Given the description of an element on the screen output the (x, y) to click on. 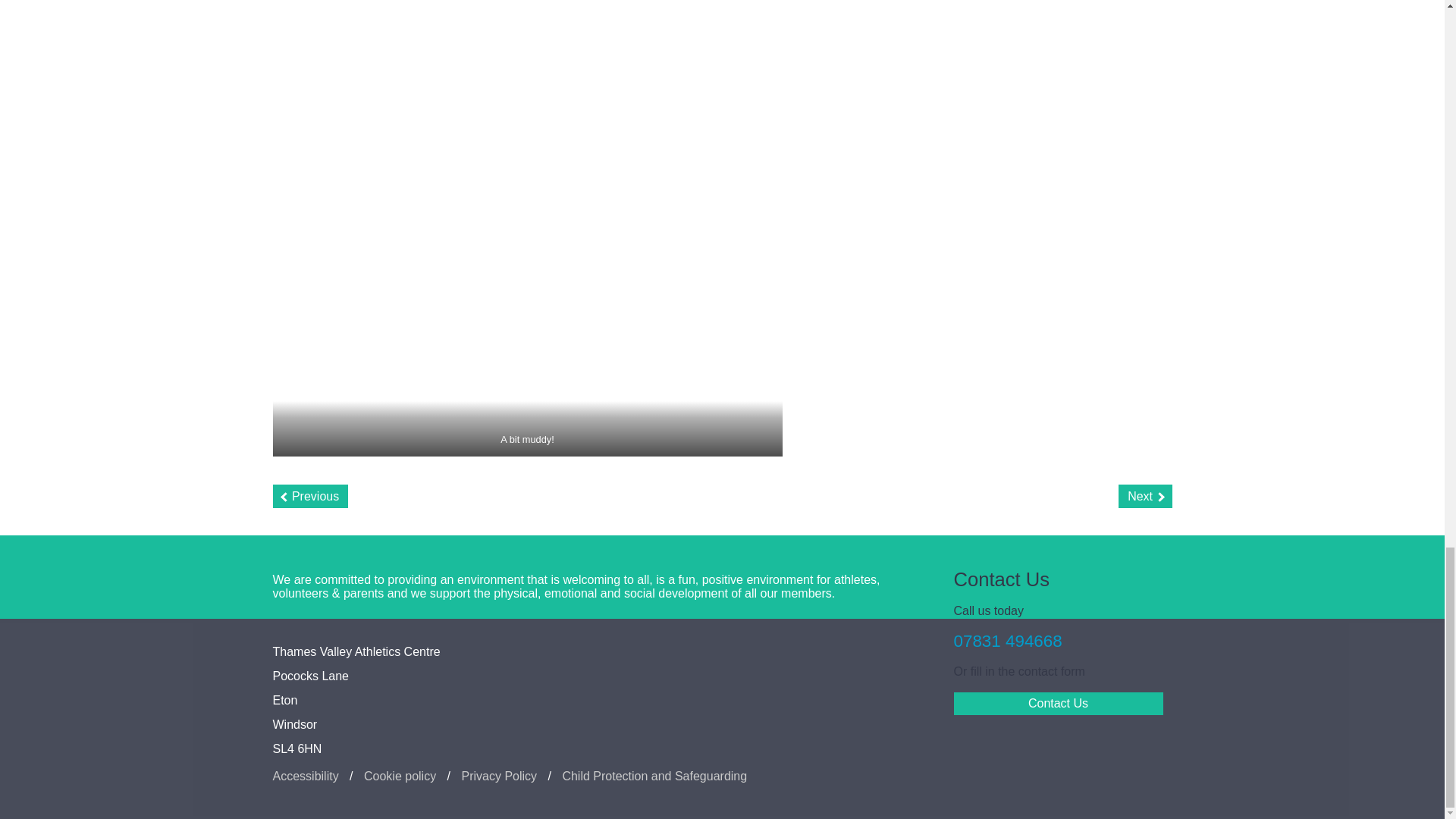
07831 494668 (1007, 640)
Child Protection and Safeguarding (654, 776)
Cookie policy (399, 776)
Previous (311, 495)
Privacy Policy (499, 776)
Contact Us (1058, 703)
Accessibility (306, 776)
Next (1145, 495)
